Given the description of an element on the screen output the (x, y) to click on. 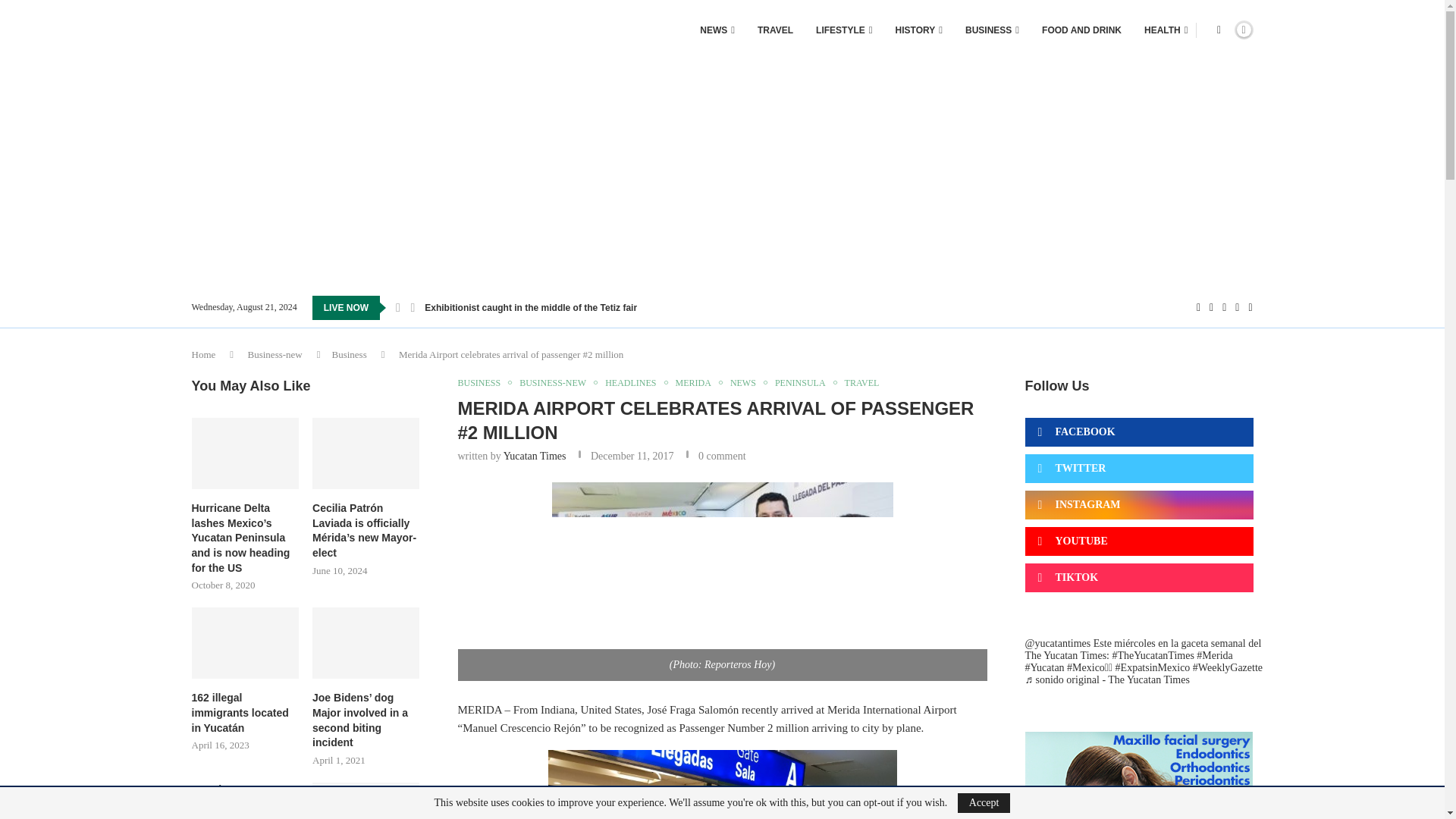
LIFESTYLE (843, 30)
two million passenger (722, 581)
